Given the description of an element on the screen output the (x, y) to click on. 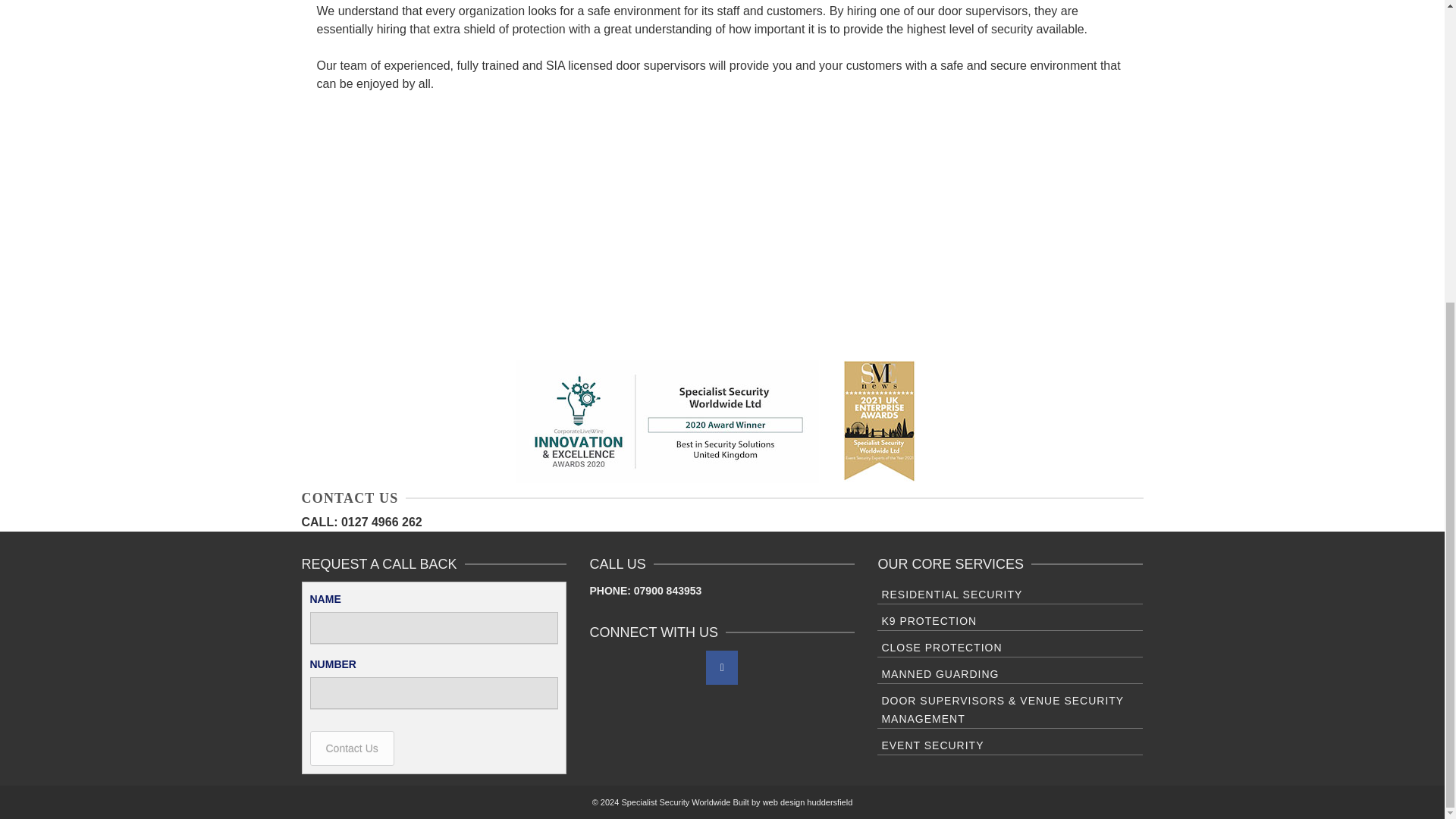
CLOSE PROTECTION (1009, 645)
Contact Us (350, 748)
web design huddersfield (807, 801)
K9 PROTECTION (1009, 619)
EVENT SECURITY (1009, 743)
RESIDENTIAL SECURITY (1009, 592)
MANNED GUARDING (1009, 671)
Specialist Security Worldwide on Facebook (722, 667)
Security Services Yorkshire (722, 421)
